Given the description of an element on the screen output the (x, y) to click on. 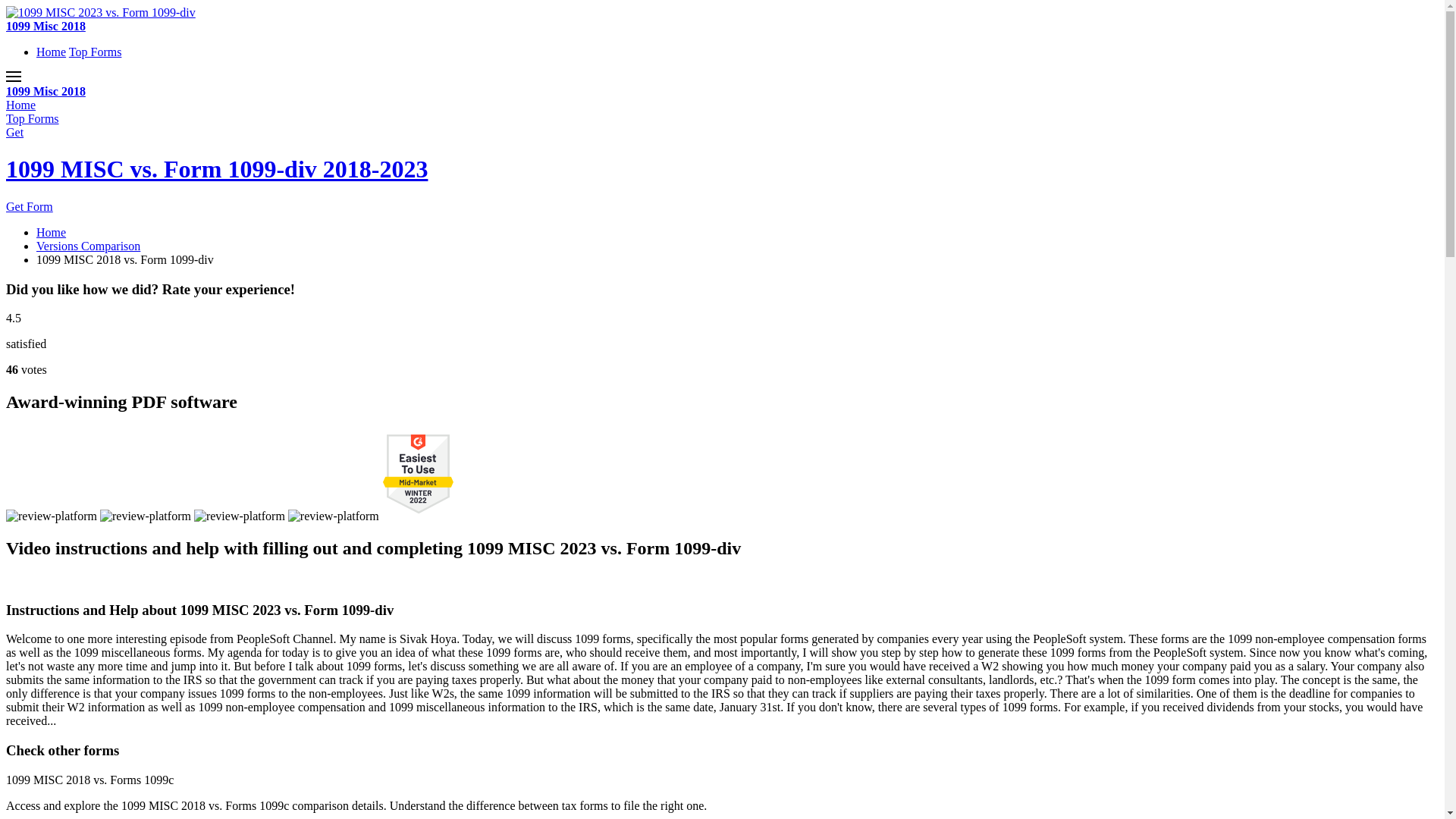
Home Element type: text (20, 104)
Home Element type: text (50, 231)
Top Forms Element type: text (95, 51)
Versions Comparison Element type: text (88, 245)
1099 Misc 2018 Element type: text (45, 90)
Top Forms Element type: text (32, 118)
Get
1099 MISC vs. Form 1099-div 2018-2023
Get Form Element type: text (722, 169)
1099 Misc 2018 Element type: text (45, 25)
Home Element type: text (50, 51)
